Given the description of an element on the screen output the (x, y) to click on. 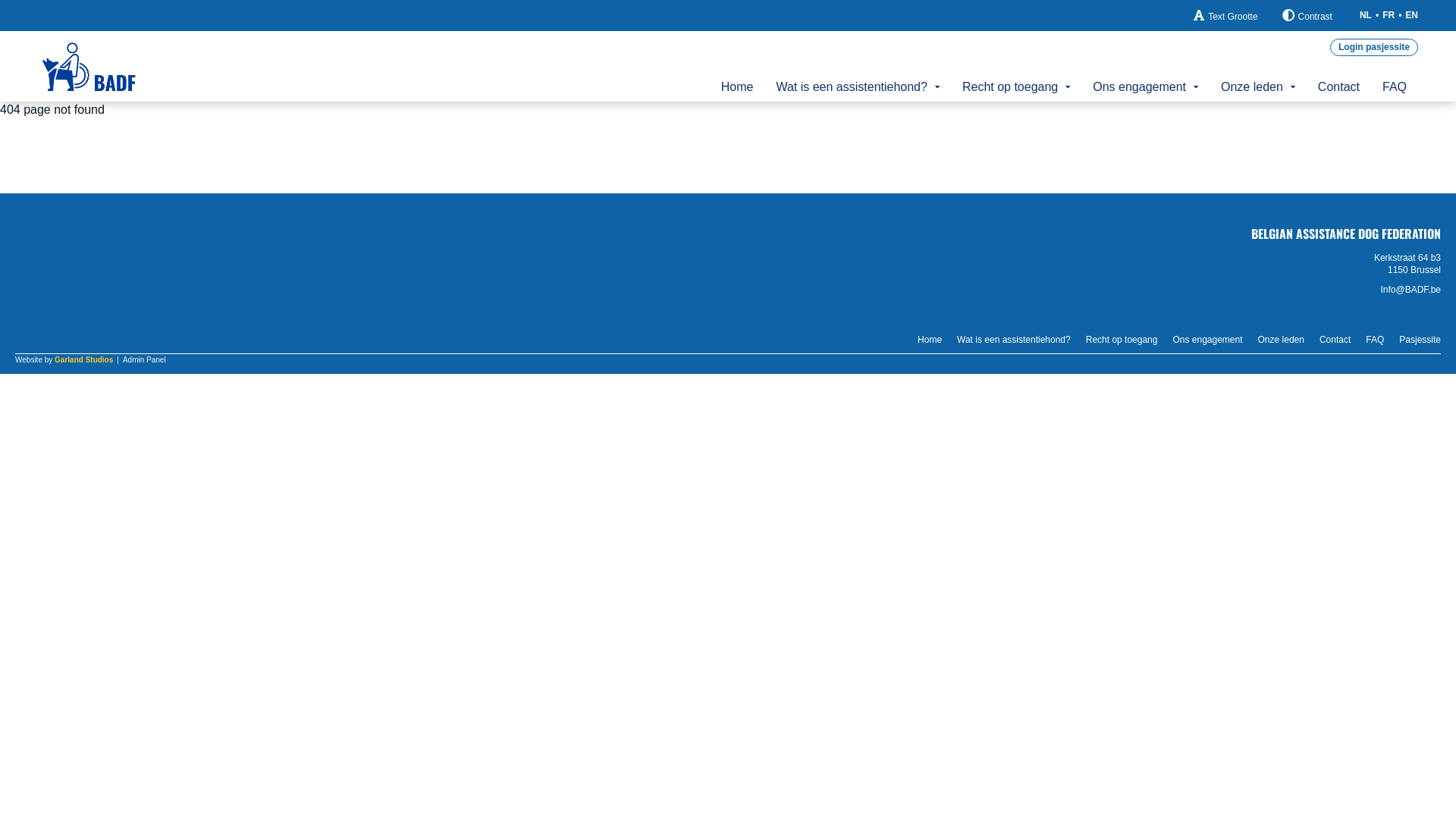
Ons engagement Element type: text (1145, 86)
Login pasjessite Element type: text (1374, 47)
Contact Element type: text (1338, 86)
Wat is een assistentiehond? Element type: text (1013, 339)
Garland Studios Element type: text (83, 359)
FAQ Element type: text (1394, 86)
Onze leden Element type: text (1257, 86)
FAQ Element type: text (1374, 339)
Contact Element type: text (1334, 339)
EN Element type: text (1411, 14)
NL Element type: text (1365, 14)
Onze leden Element type: text (1281, 339)
Recht op toegang Element type: text (1121, 339)
Admin Panel Element type: text (144, 360)
Ons engagement Element type: text (1207, 339)
Wat is een assistentiehond? Element type: text (857, 86)
Contrast Element type: text (1306, 15)
FR Element type: text (1388, 14)
Home Element type: text (929, 339)
Pasjessite Element type: text (1419, 339)
Text Grootte Element type: text (1225, 15)
Home Element type: text (737, 86)
Recht op toegang Element type: text (1015, 86)
